Given the description of an element on the screen output the (x, y) to click on. 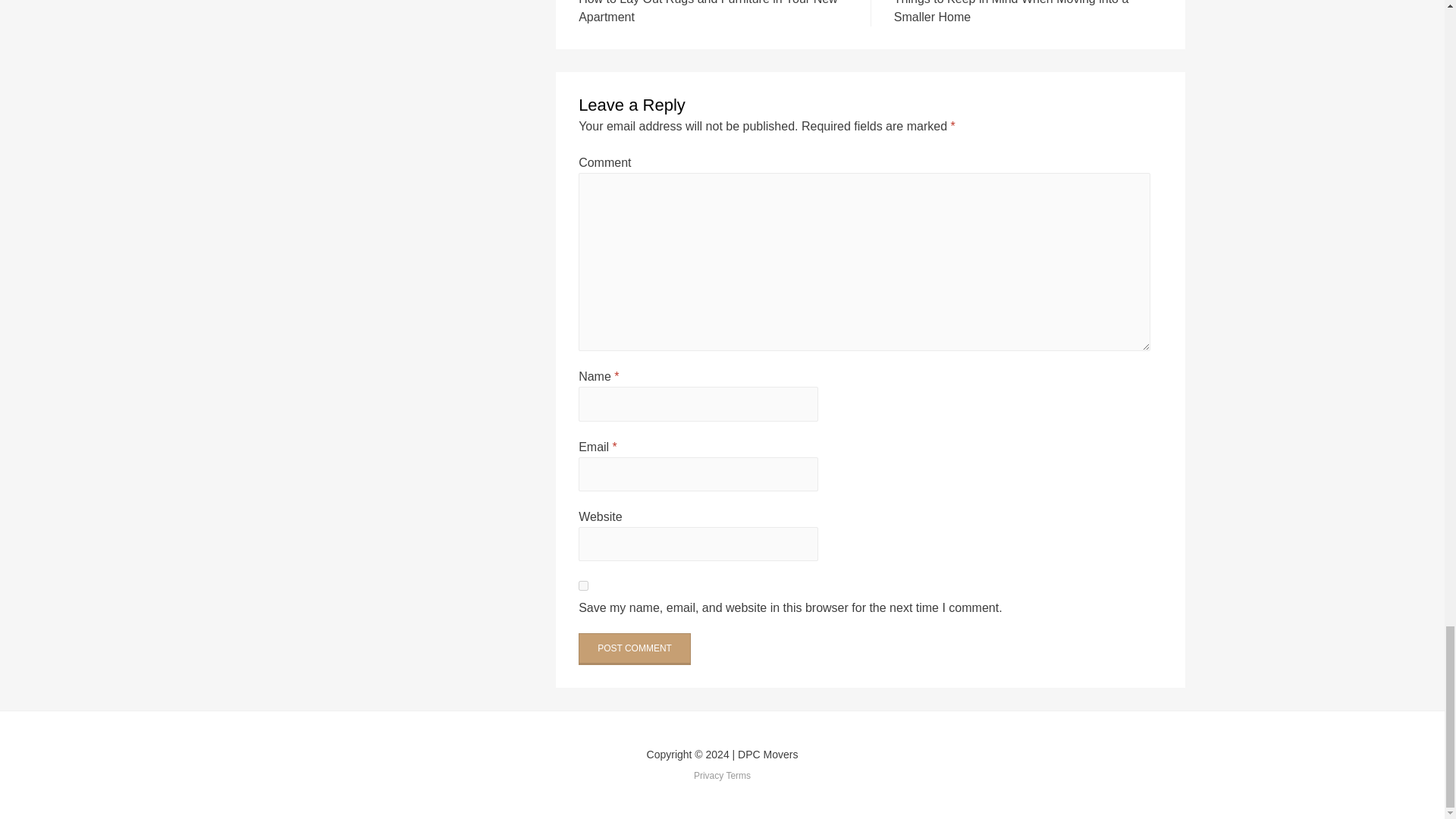
DPC Movers (767, 754)
Post Comment (634, 649)
Post Comment (634, 649)
yes (1027, 13)
Privacy Terms (583, 585)
